Given the description of an element on the screen output the (x, y) to click on. 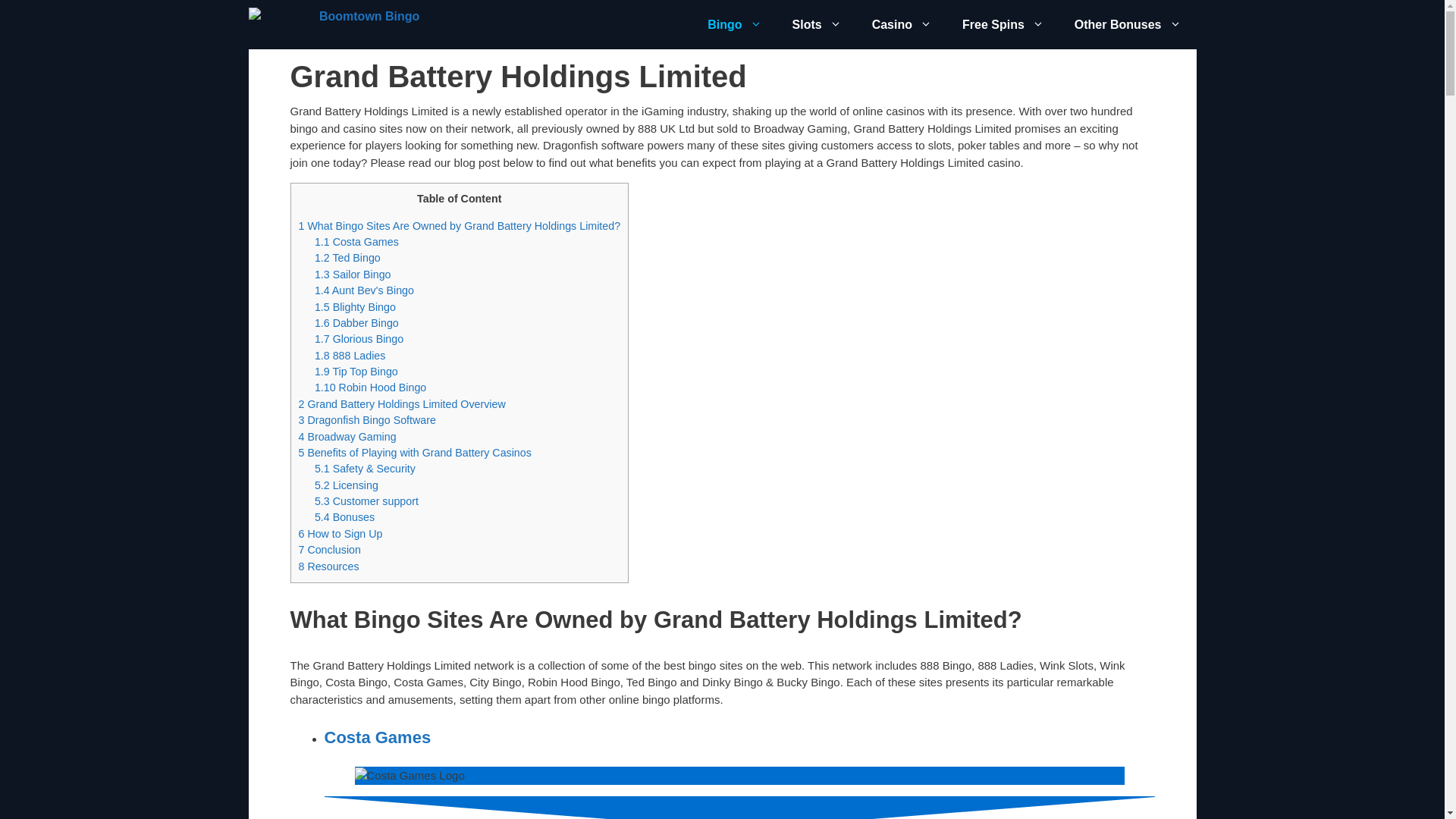
Bingo (734, 24)
Casino (902, 24)
Boomtown Bingo (334, 24)
Costa-Games (409, 775)
Slots (817, 24)
Boomtown Bingo (338, 24)
